Given the description of an element on the screen output the (x, y) to click on. 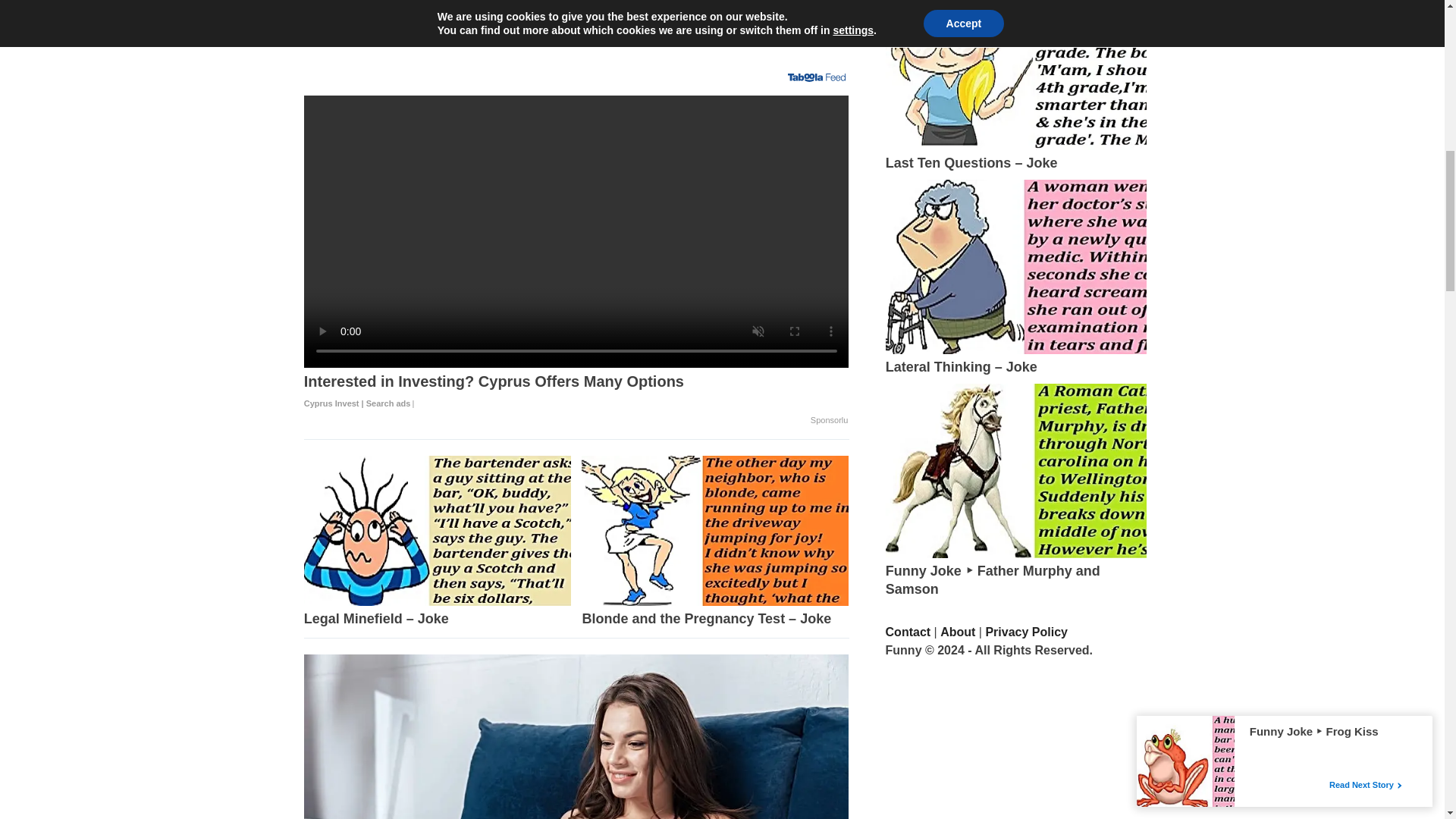
Sponsorlu (829, 420)
